Given the description of an element on the screen output the (x, y) to click on. 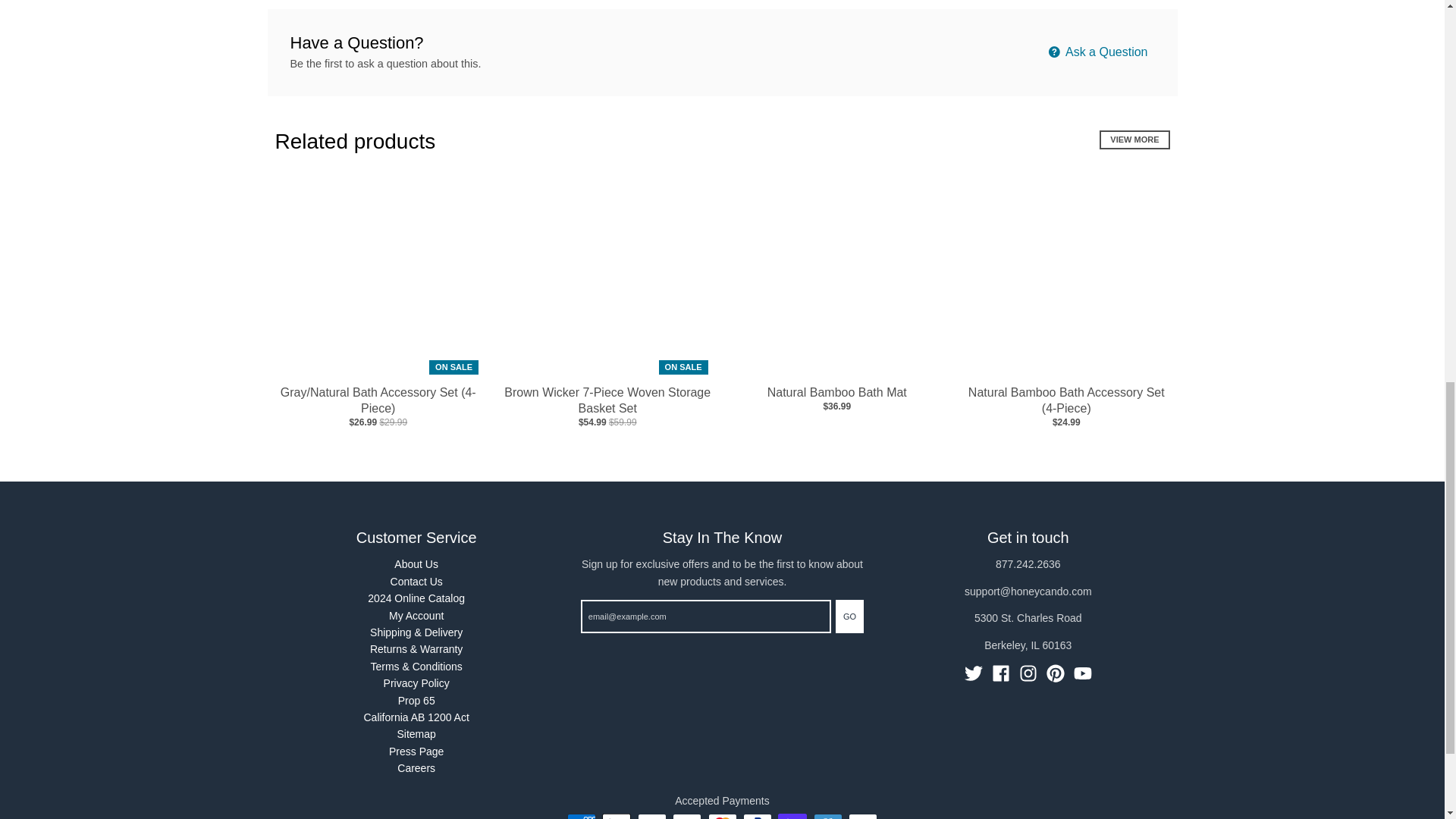
Instagram - honeycando.com (1027, 673)
Pinterest - honeycando.com (1055, 673)
Facebook - honeycando.com (1000, 673)
Twitter - honeycando.com (972, 673)
YouTube - honeycando.com (1083, 673)
